Given the description of an element on the screen output the (x, y) to click on. 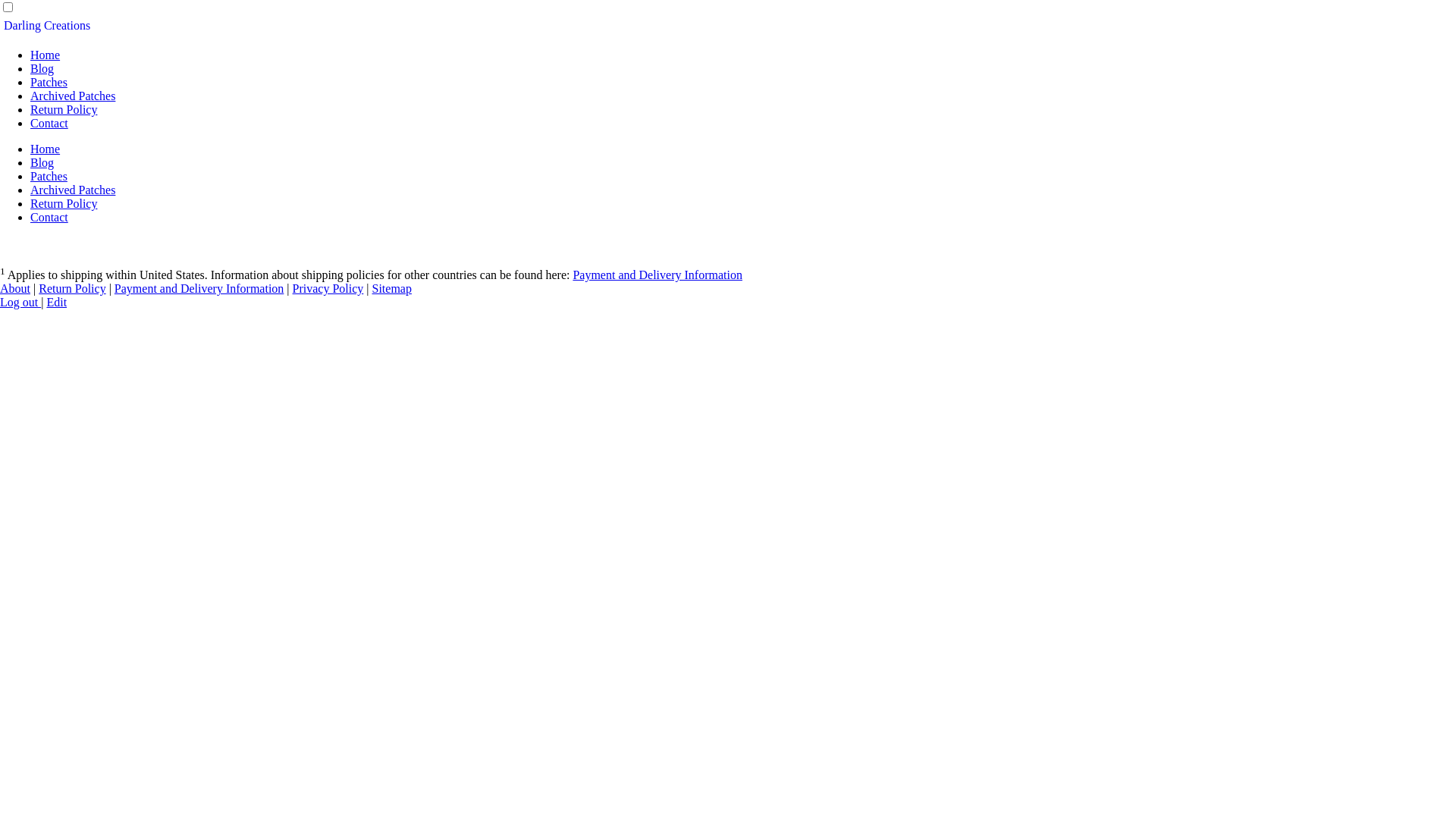
Log out Element type: text (20, 301)
Payment and Delivery Information Element type: text (657, 274)
Patches Element type: text (48, 175)
Blog Element type: text (41, 68)
Sitemap Element type: text (391, 288)
Return Policy Element type: text (71, 288)
Patches Element type: text (48, 81)
Return Policy Element type: text (63, 203)
Home Element type: text (44, 148)
Contact Element type: text (49, 216)
Contact Element type: text (49, 122)
Archived Patches Element type: text (72, 95)
Archived Patches Element type: text (72, 189)
Privacy Policy Element type: text (328, 288)
Return Policy Element type: text (63, 109)
Blog Element type: text (41, 162)
Darling Creations Element type: text (46, 24)
Payment and Delivery Information Element type: text (199, 288)
Home Element type: text (44, 54)
About Element type: text (15, 288)
Edit Element type: text (56, 301)
